Given the description of an element on the screen output the (x, y) to click on. 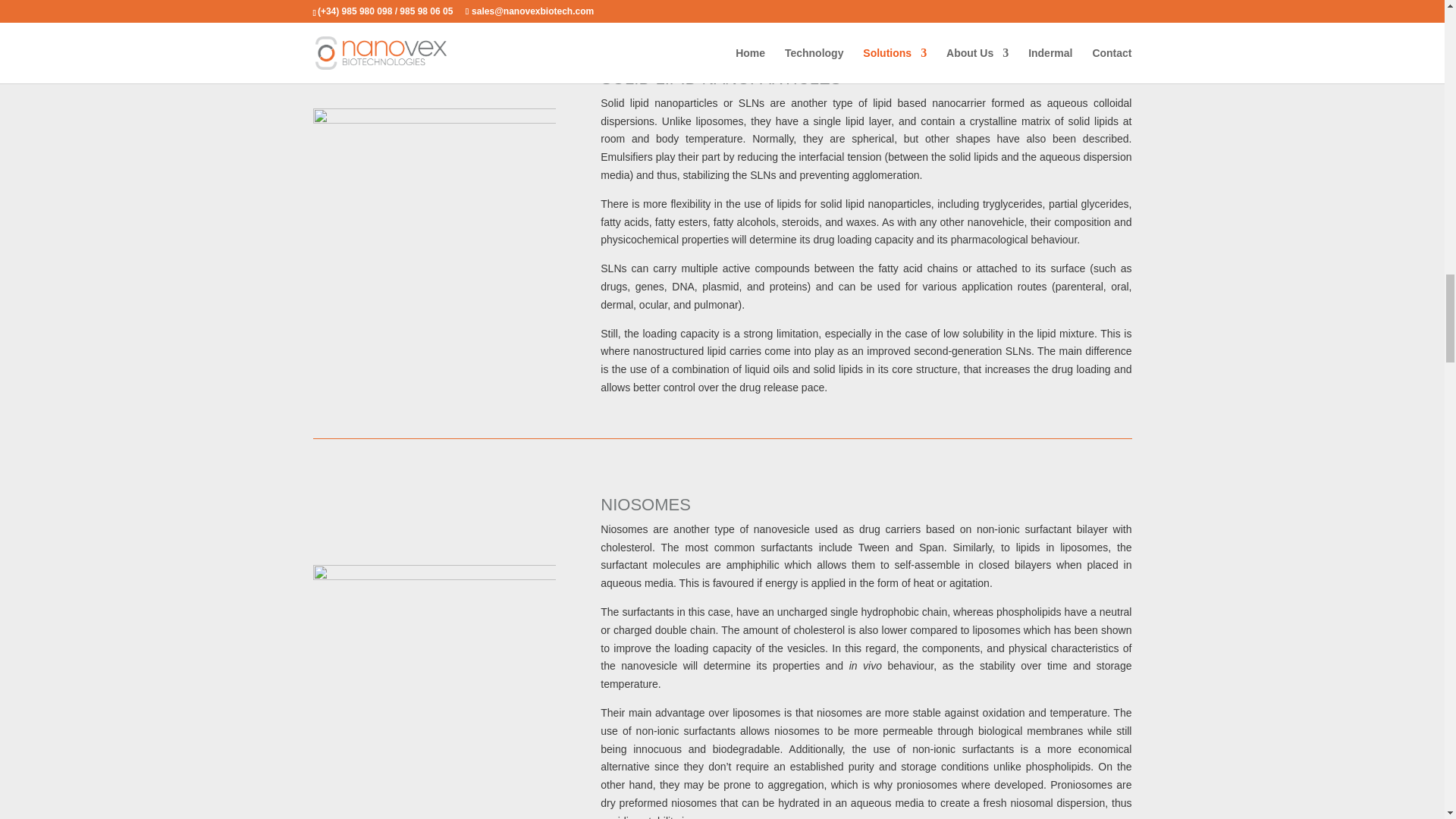
image-solid-lipid-nanoparticles (433, 229)
image-niosomes (433, 686)
